Given the description of an element on the screen output the (x, y) to click on. 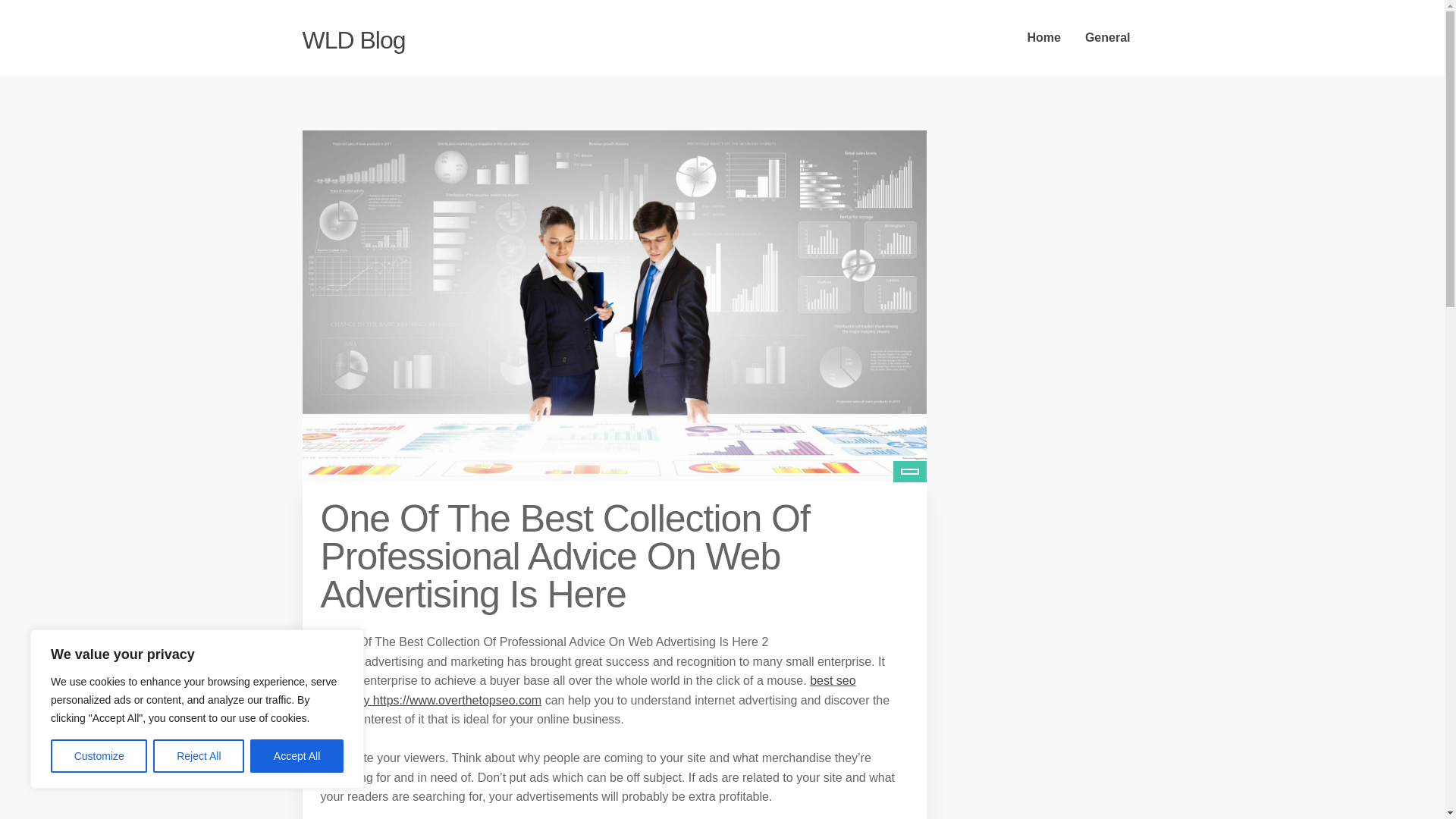
Home (1042, 37)
Reject All (198, 756)
Customize (98, 756)
Accept All (296, 756)
General (1107, 37)
WLD Blog (352, 39)
